Given the description of an element on the screen output the (x, y) to click on. 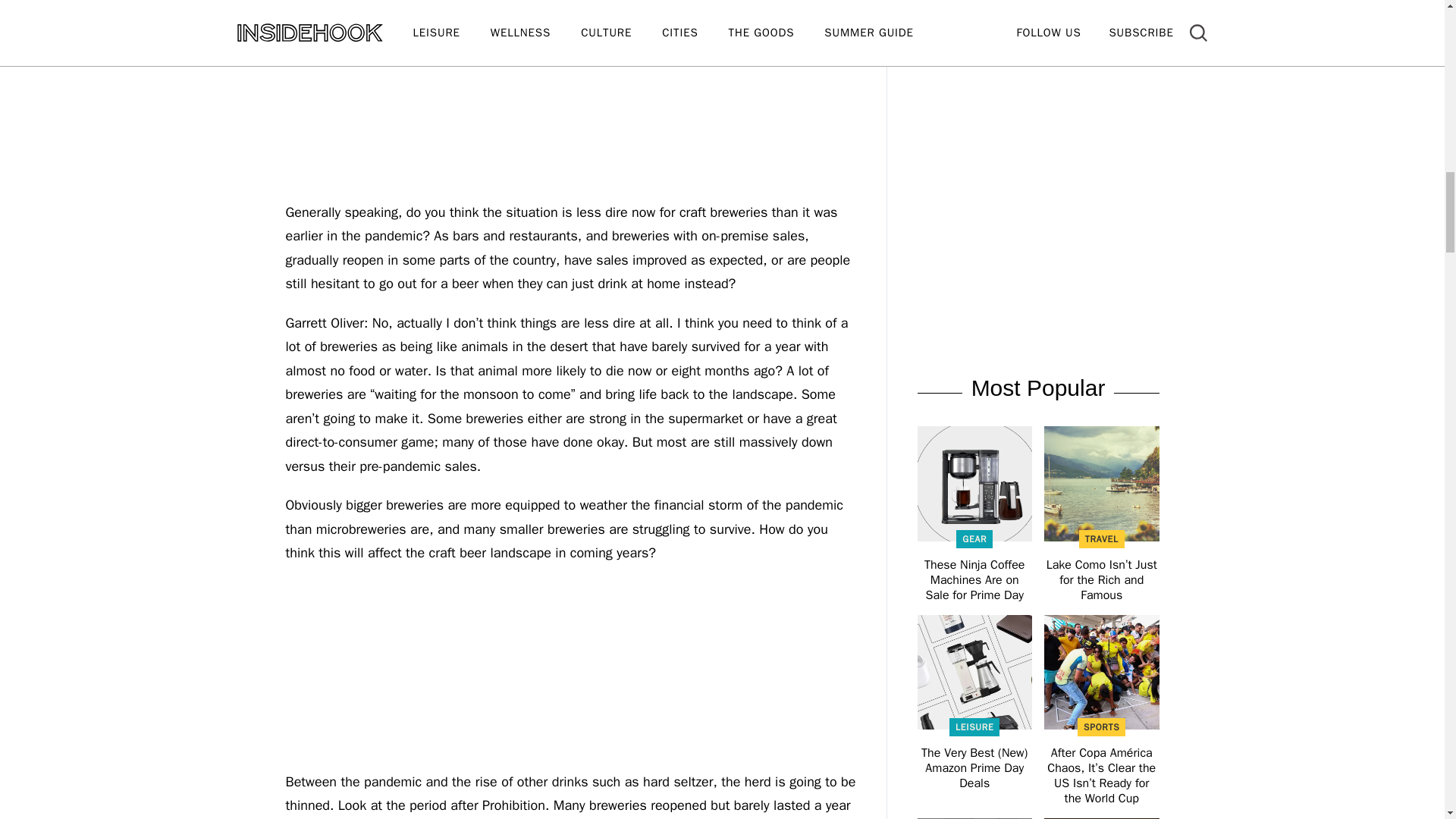
3rd party ad content (1037, 87)
